Given the description of an element on the screen output the (x, y) to click on. 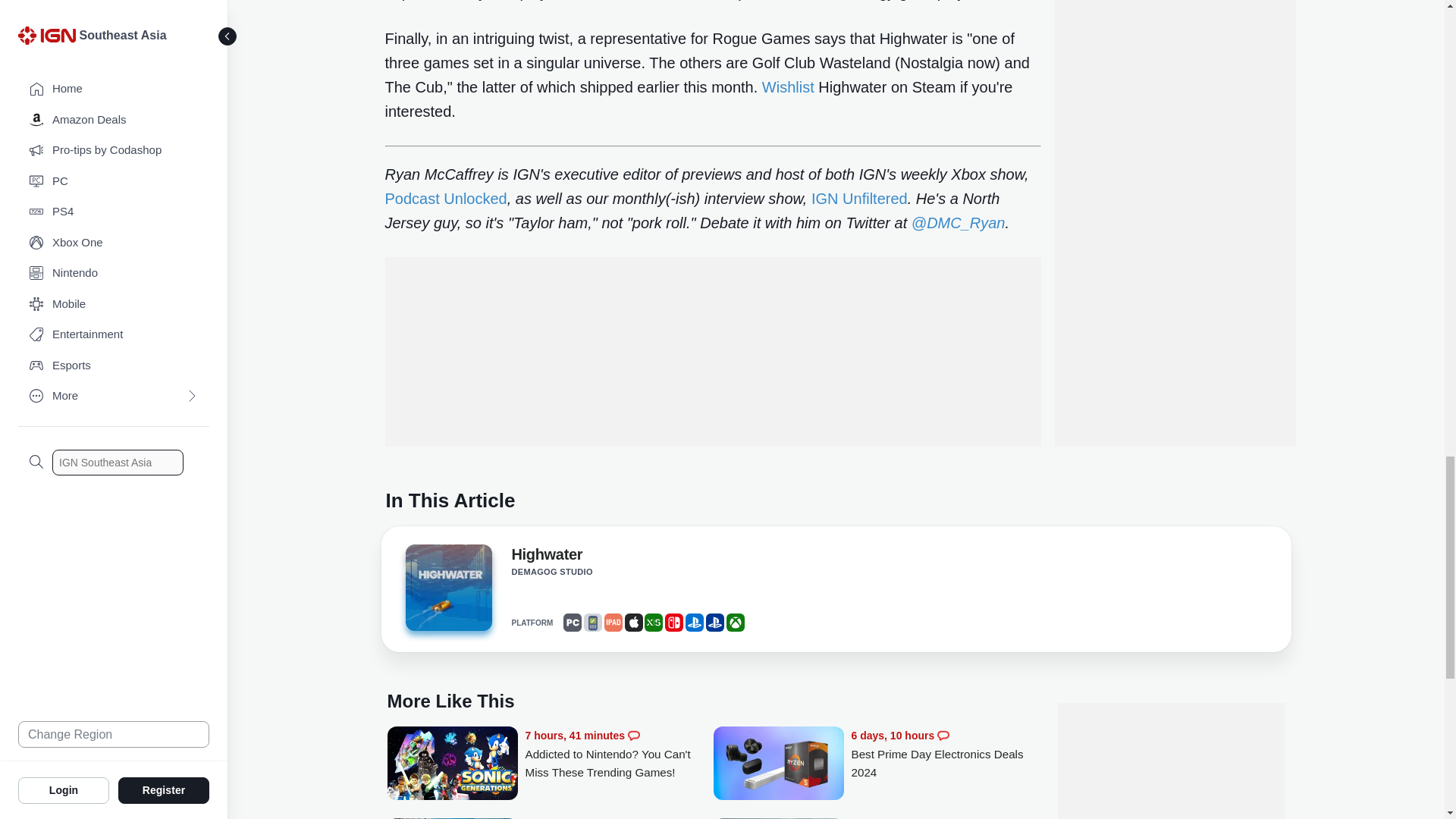
Highwater (546, 557)
Highwater (448, 587)
Addicted to Nintendo? You Can't Miss These Trending Games! (451, 764)
Addicted to Nintendo? You Can't Miss These Trending Games! (618, 754)
Best Prime Day Electronics Deals 2024 (944, 754)
Best Prime Day Electronics Deals 2024 (778, 764)
ANDROID (592, 622)
3rd party ad content (713, 351)
Highwater (448, 591)
PC (571, 622)
